Given the description of an element on the screen output the (x, y) to click on. 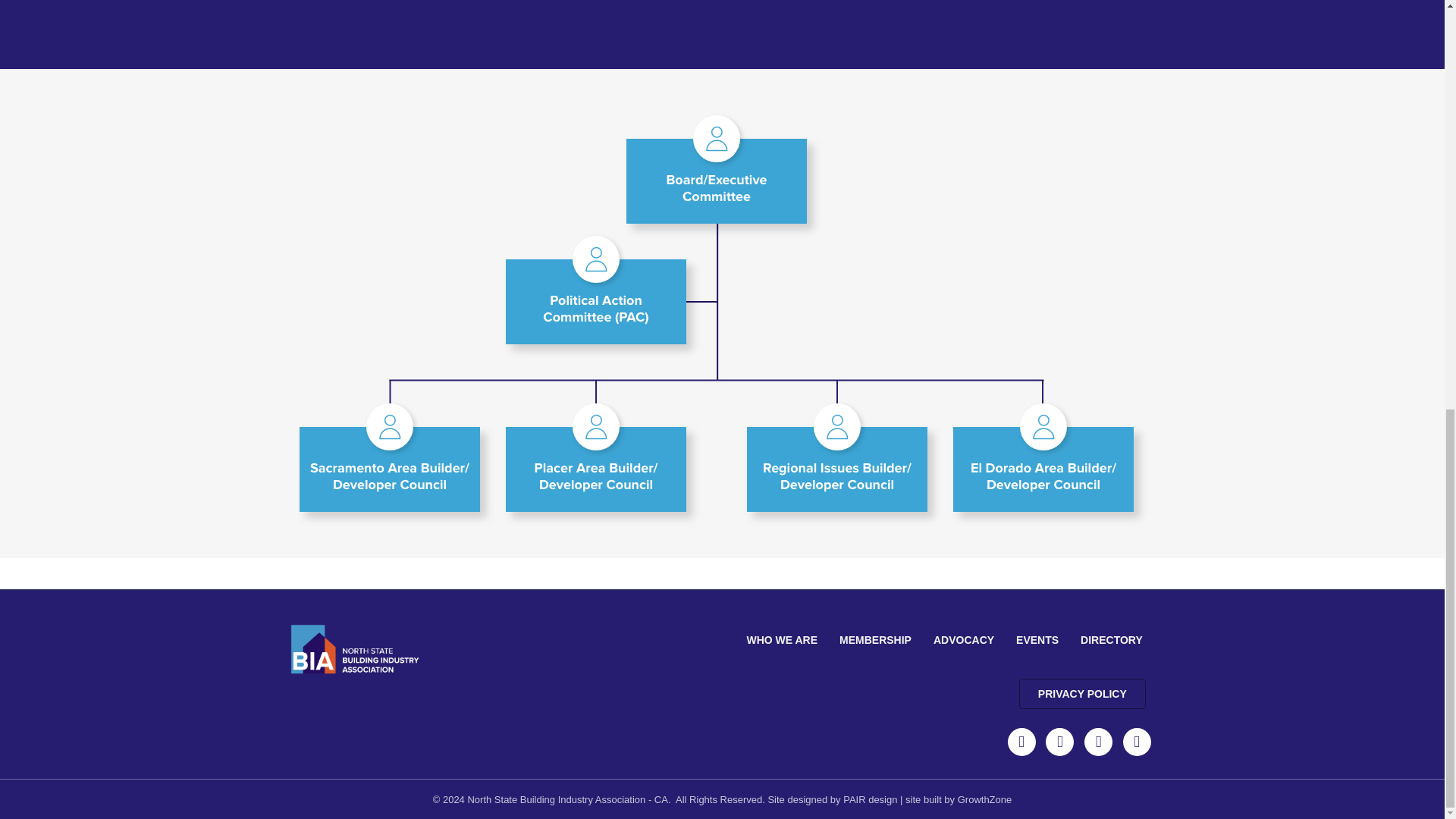
DIRECTORY (1111, 640)
EVENTS (1037, 640)
ADVOCACY (963, 640)
MEMBERSHIP (874, 640)
PRIVACY POLICY (1082, 693)
WHO WE ARE (781, 640)
